Given the description of an element on the screen output the (x, y) to click on. 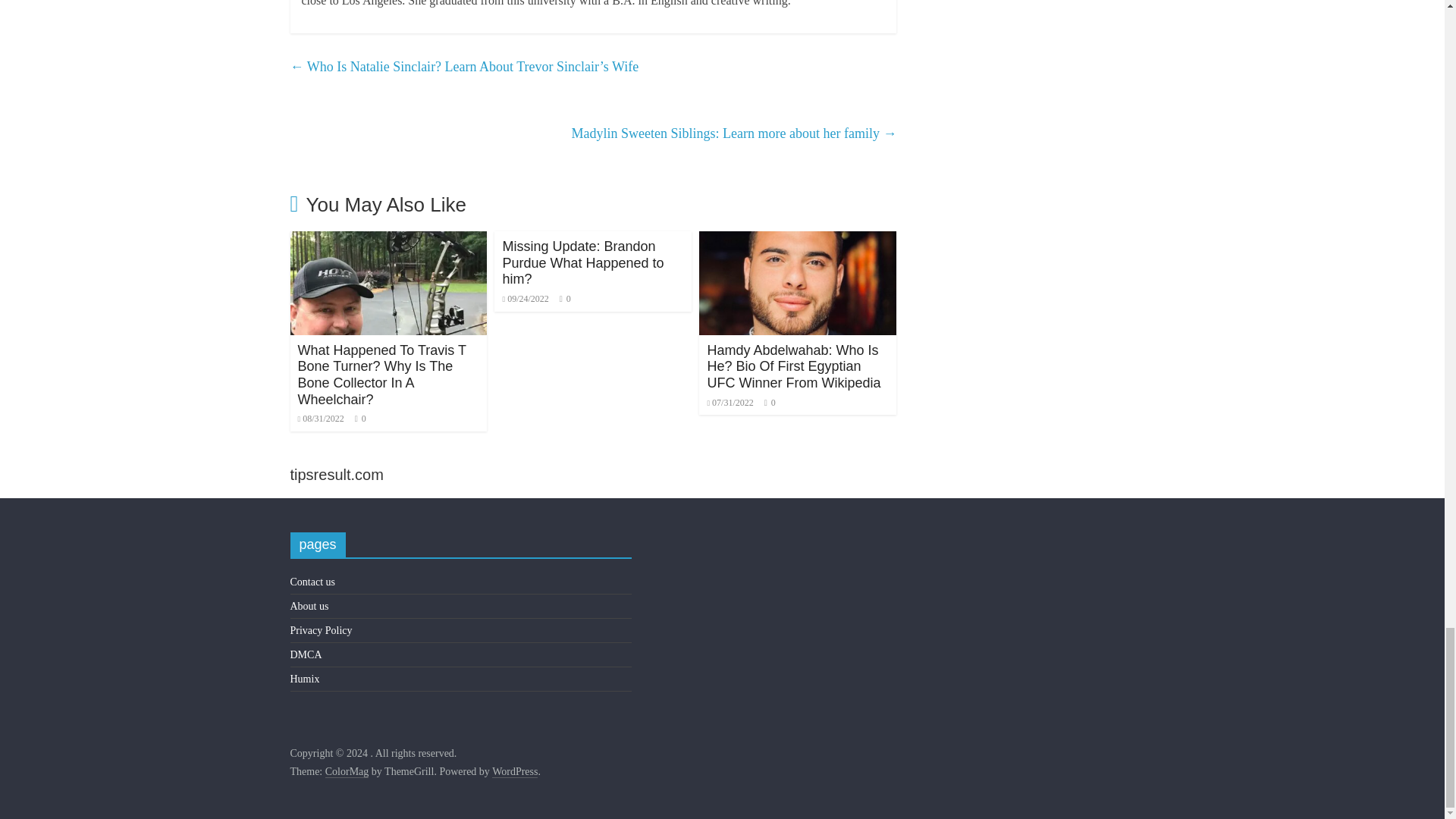
Missing Update: Brandon Purdue What Happened to him? (582, 262)
Missing Update: Brandon Purdue What Happened to him? (582, 262)
9:57 am (320, 418)
12:28 pm (525, 298)
